Given the description of an element on the screen output the (x, y) to click on. 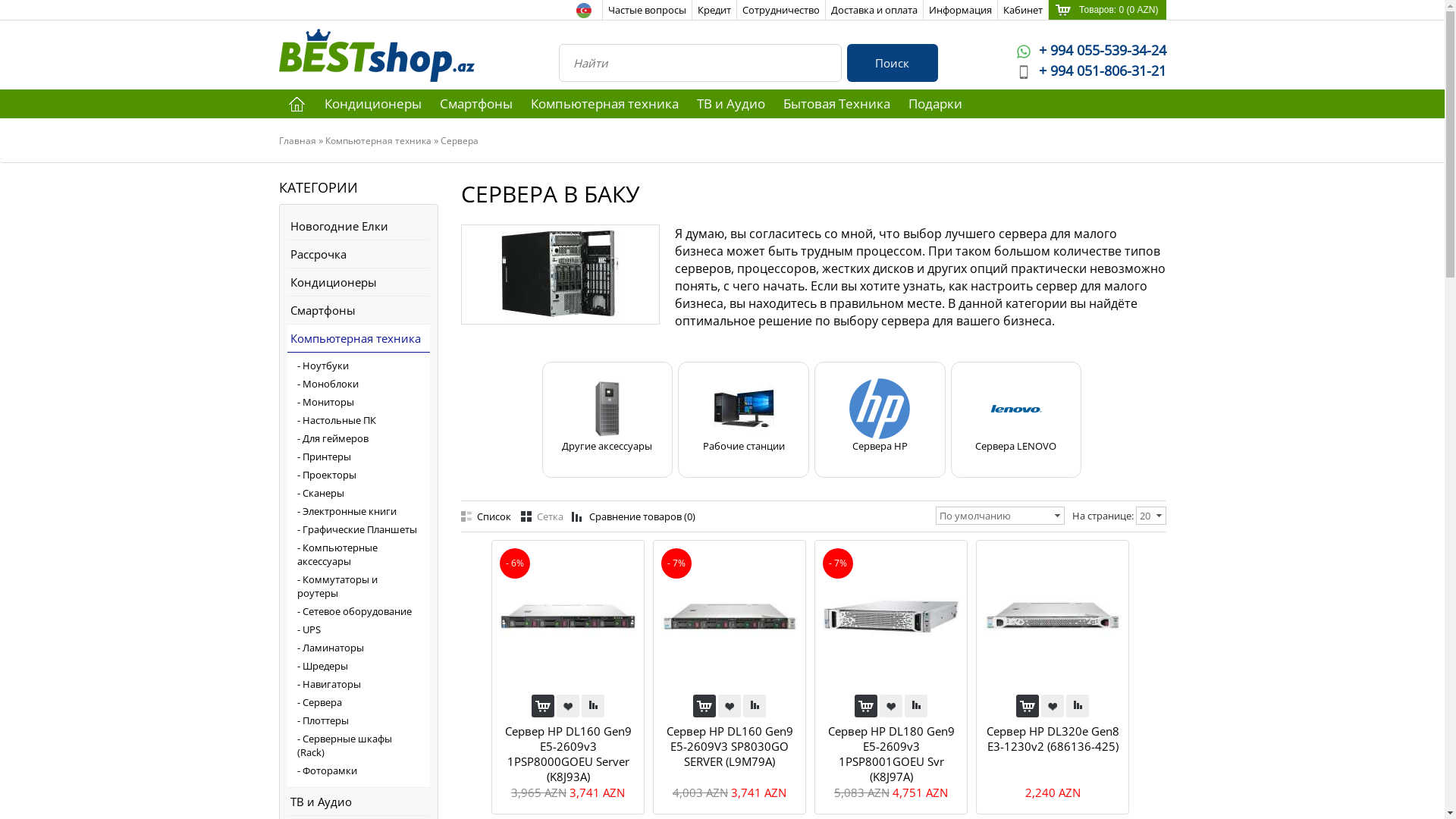
BESTSHOP   Element type: hover (376, 54)
+ 994 055-539-34-24 Element type: text (1090, 49)
+ 994 051-806-31-21 Element type: text (1090, 69)
azerbaijani Element type: hover (583, 10)
- UPS Element type: text (357, 629)
